Given the description of an element on the screen output the (x, y) to click on. 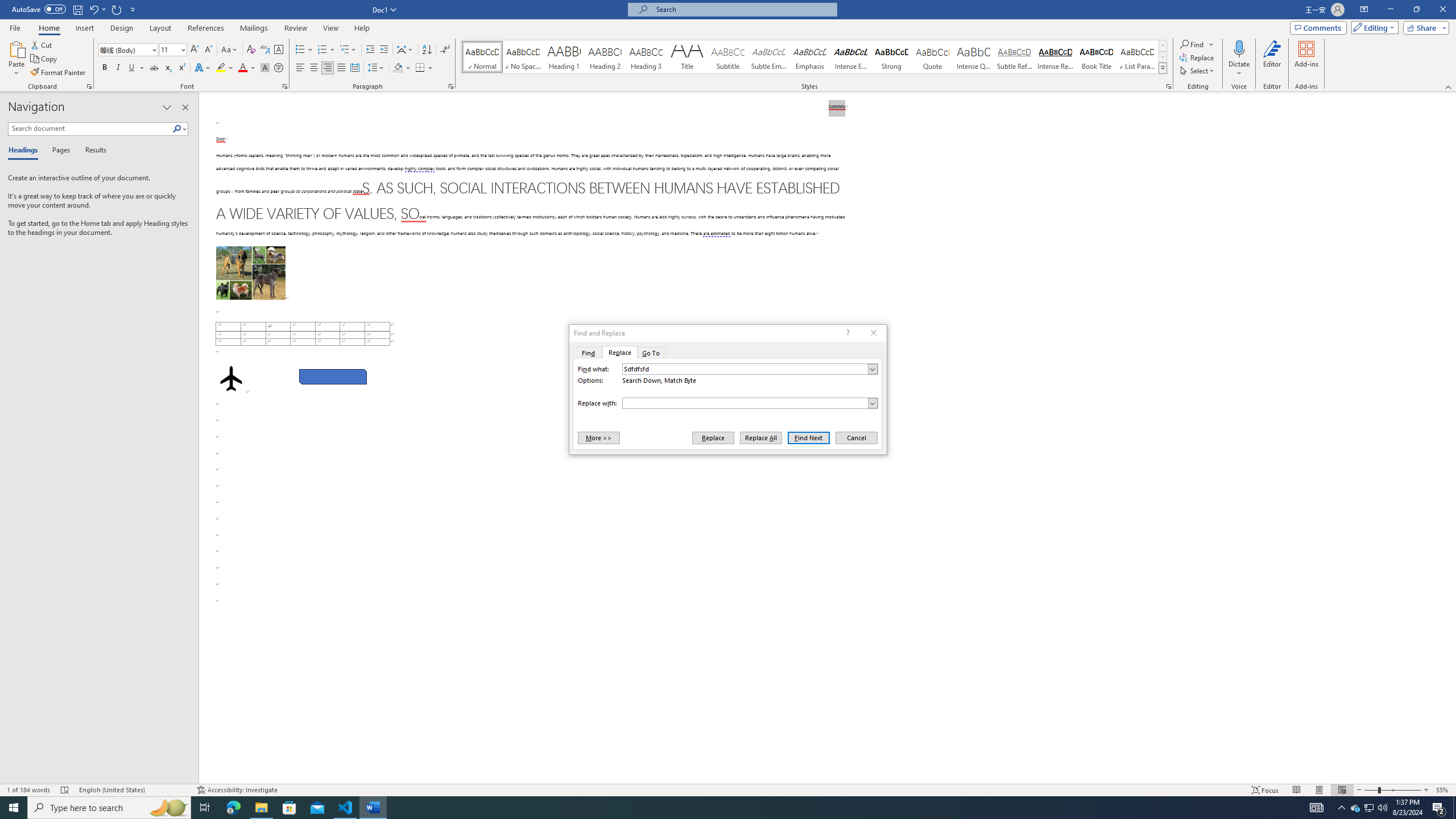
Emphasis (809, 56)
Task Pane Options (167, 107)
Search (179, 128)
Dictate (1238, 58)
Pages (59, 150)
Heading 2 (605, 56)
Replace... (1197, 56)
Underline (131, 67)
Book Title (1095, 56)
Grow Font (193, 49)
Character Shading (264, 67)
Subscript (167, 67)
Language English (United States) (132, 790)
Phonetic Guide... (264, 49)
